Given the description of an element on the screen output the (x, y) to click on. 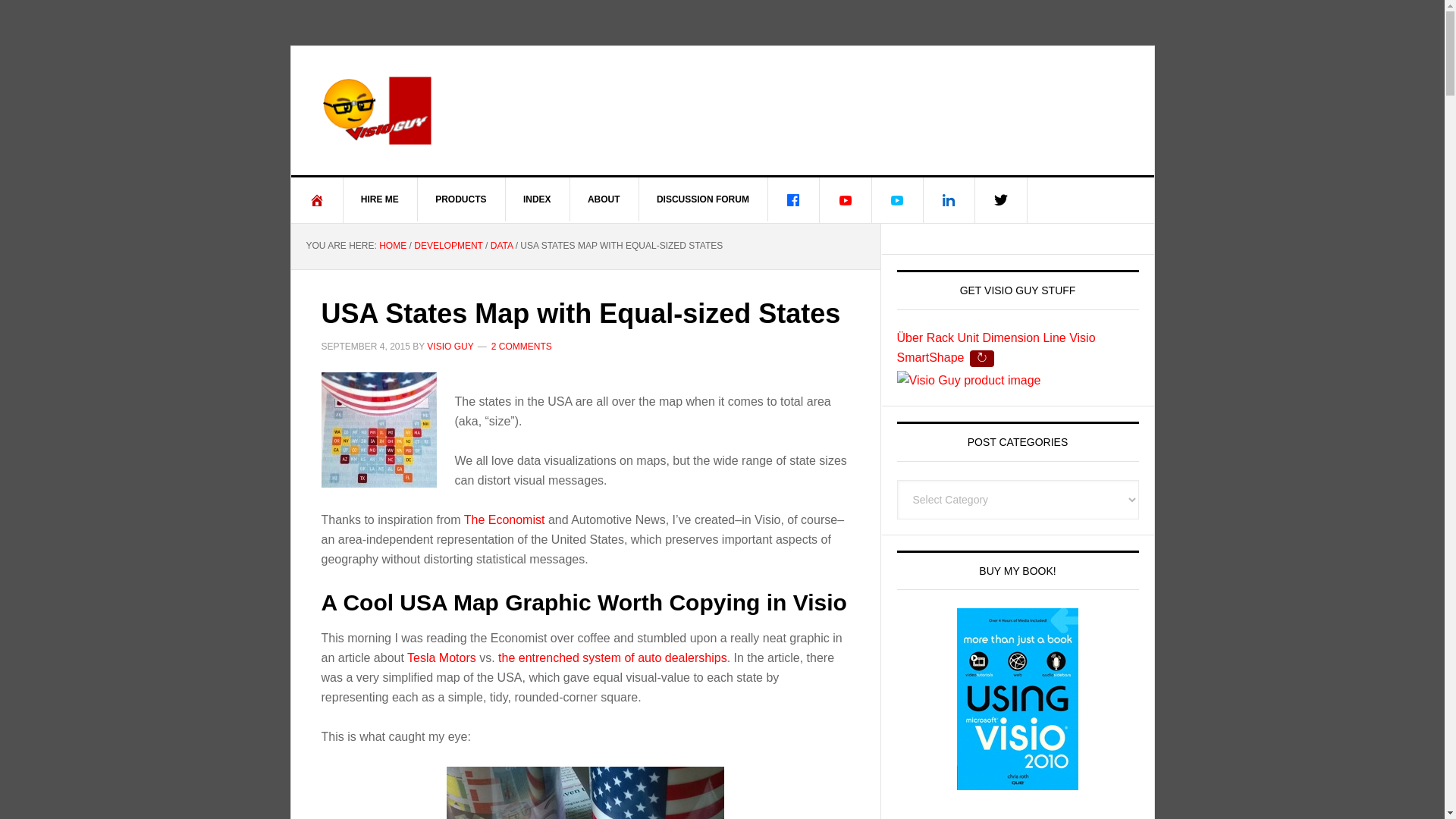
ABOUT (604, 199)
Visio Guy on YouTube (845, 199)
Visio Guy on facebook (793, 199)
VISIO GUY (722, 110)
DISCUSSION FORUM (703, 199)
HIRE ME (379, 199)
Companion videos for Using Visio 2010 book (896, 199)
Show another Visio Guy product! (981, 358)
PRODUCTS (460, 199)
